Given the description of an element on the screen output the (x, y) to click on. 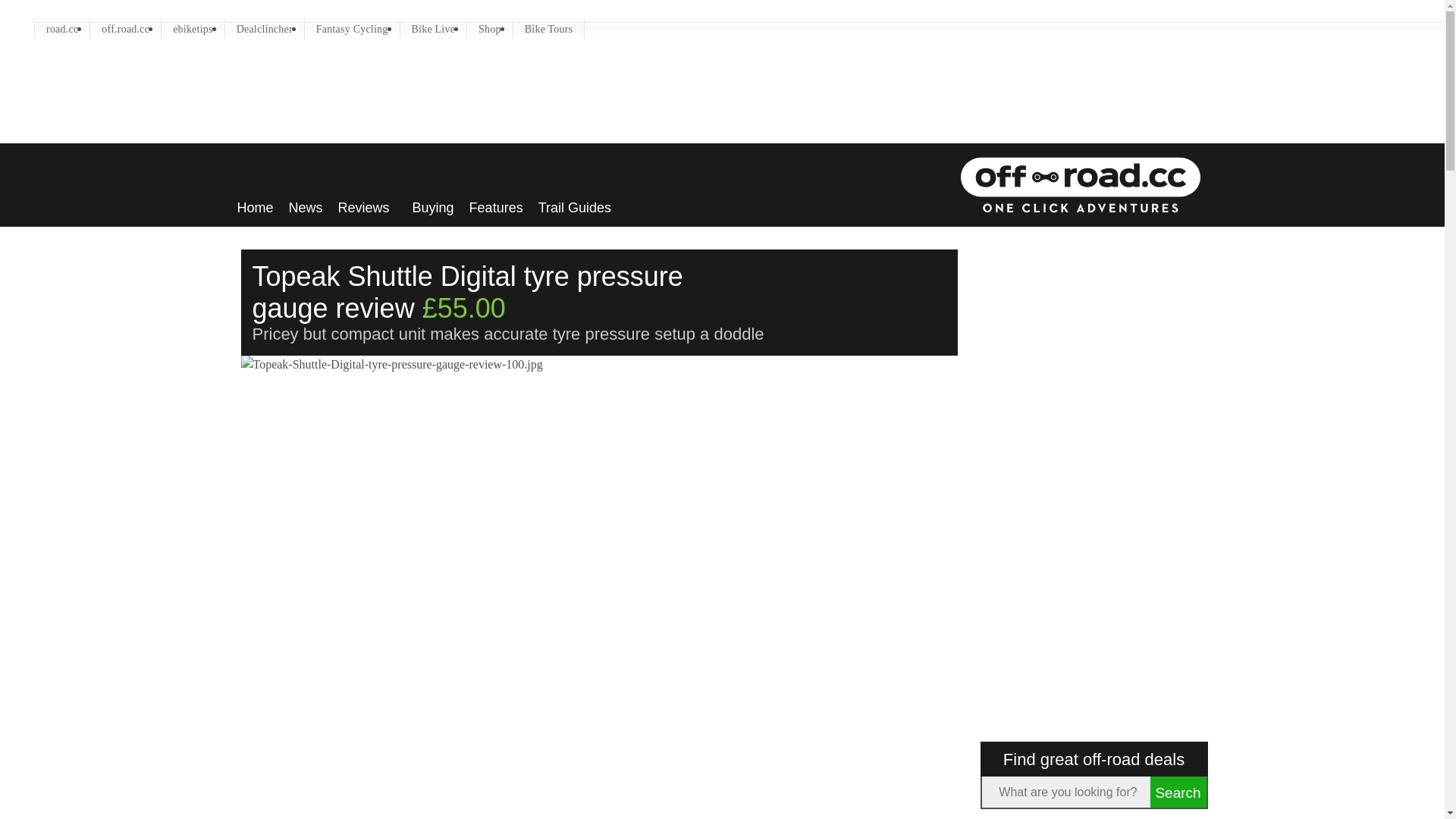
Bike Tours (549, 28)
off.road.cc (125, 28)
road.cc (61, 28)
ebiketips (192, 28)
Home (254, 203)
News (305, 203)
Dealclincher (264, 28)
Reviews (367, 203)
Fantasy Cycling (351, 28)
Shop (489, 28)
Bike Live (433, 28)
Search (1177, 791)
